Given the description of an element on the screen output the (x, y) to click on. 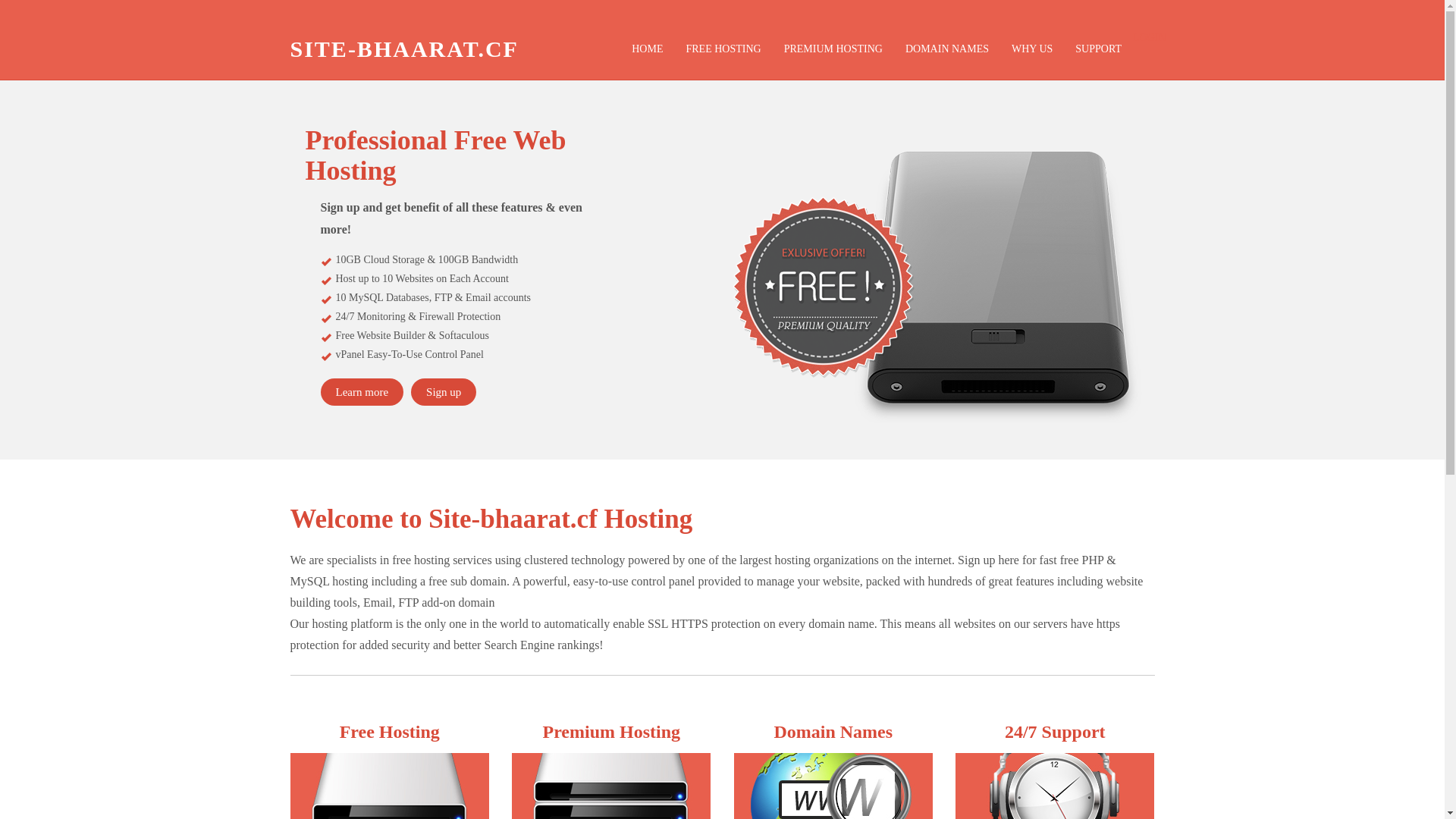
LOGIN Element type: text (1149, 37)
Learn more Element type: text (361, 391)
WHY US Element type: text (1031, 49)
DOMAIN NAMES Element type: text (947, 49)
PREMIUM HOSTING Element type: text (833, 49)
SITE-BHAARAT.CF Element type: text (404, 49)
FREE HOSTING Element type: text (722, 49)
HOME Element type: text (647, 49)
Sign up Element type: text (443, 391)
SUPPORT Element type: text (1097, 49)
